Given the description of an element on the screen output the (x, y) to click on. 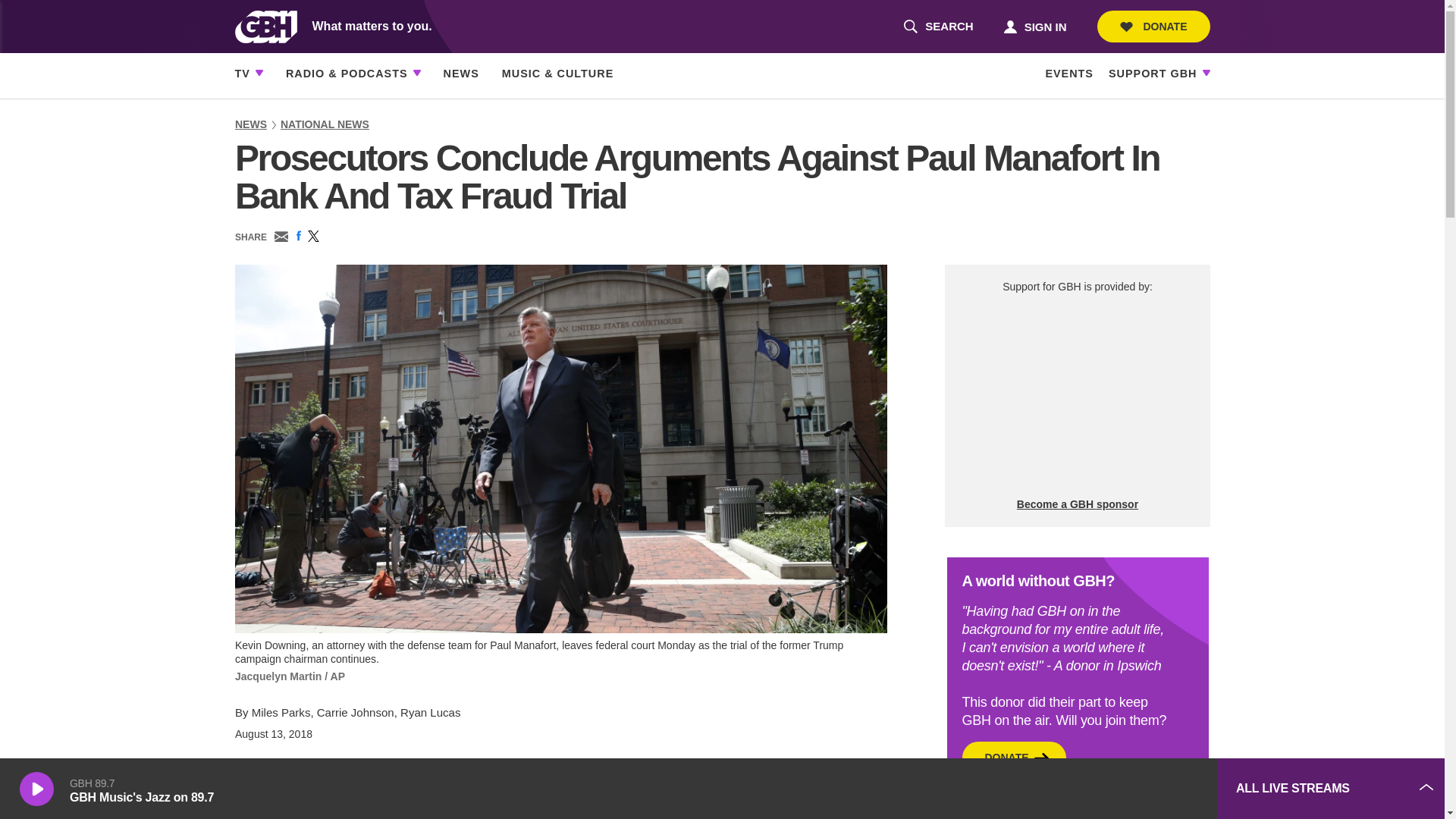
3rd party ad content (1091, 788)
3rd party ad content (937, 26)
DONATE (1076, 395)
SIGN IN (1153, 26)
